Given the description of an element on the screen output the (x, y) to click on. 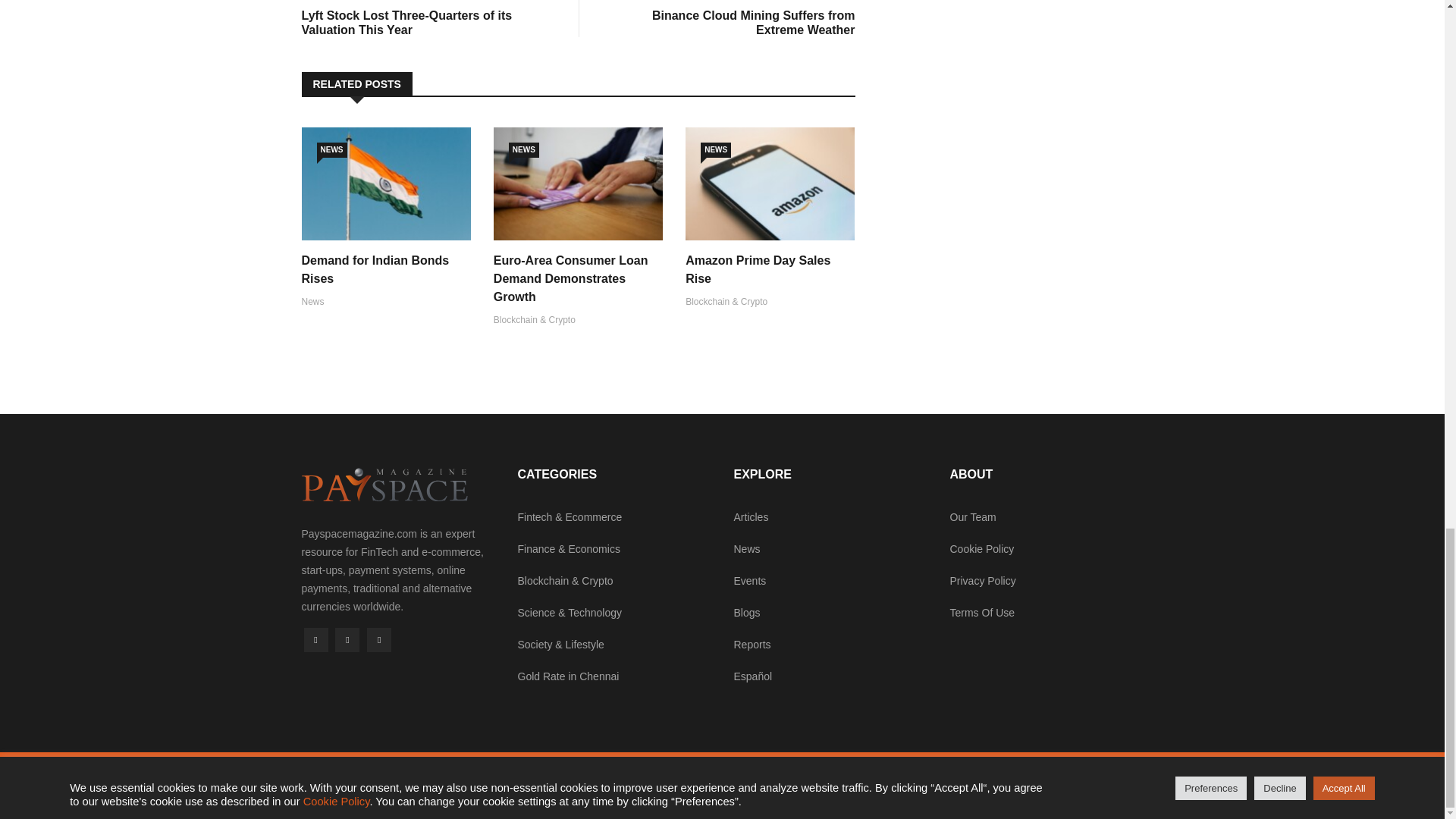
RSS (378, 639)
NEWS (523, 150)
NEWS (715, 150)
Twitter (733, 18)
NEWS (346, 639)
Amazon Prime Day Sales Rise (332, 150)
Euro-Area Consumer Loan Demand Demonstrates Growth (757, 269)
Facebook (570, 278)
Demand for Indian Bonds Rises (314, 639)
